Given the description of an element on the screen output the (x, y) to click on. 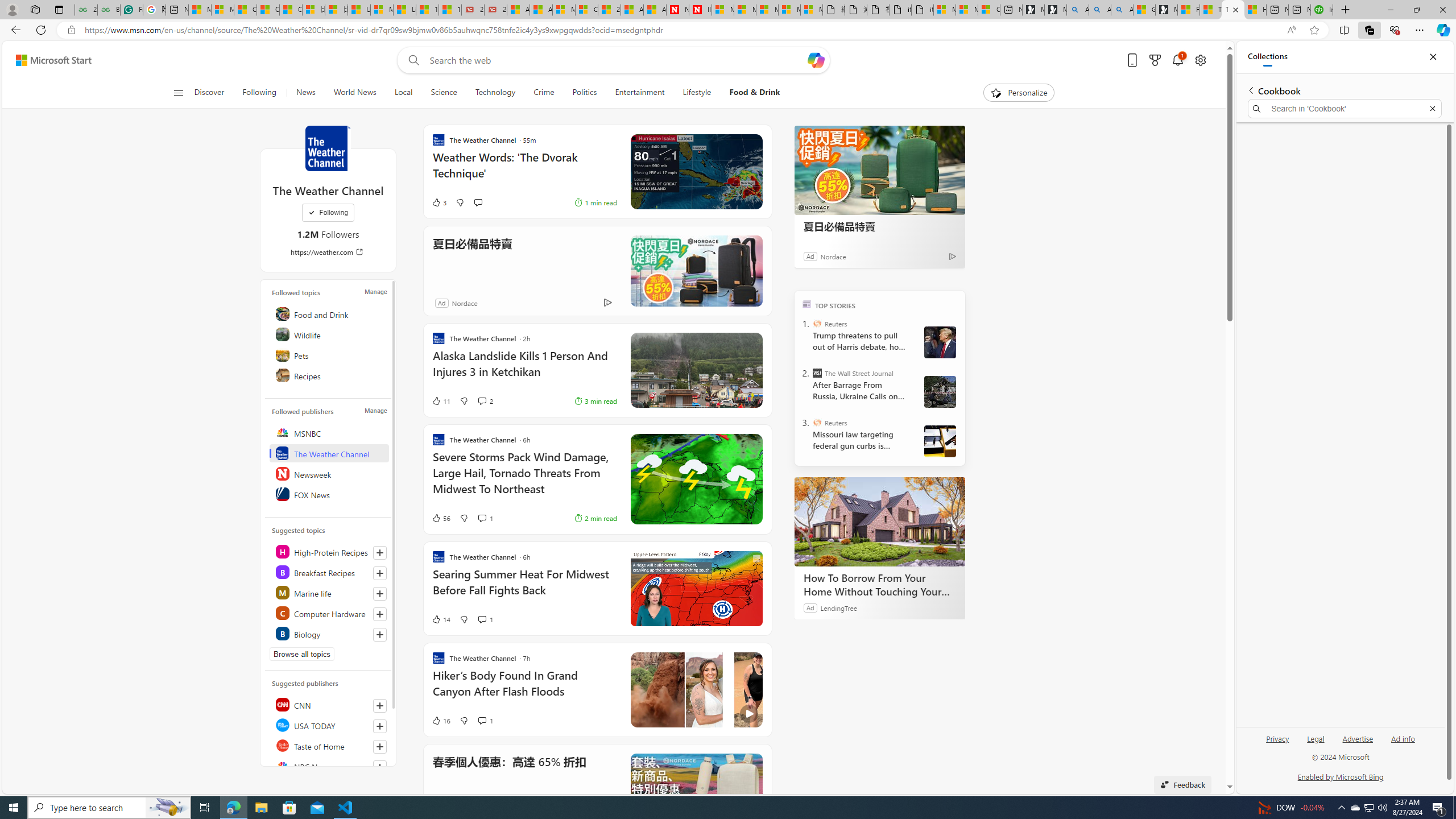
https://weather.com (327, 251)
56 Like (440, 517)
Lifestyle - MSN (404, 9)
11 Like (440, 400)
